Given the description of an element on the screen output the (x, y) to click on. 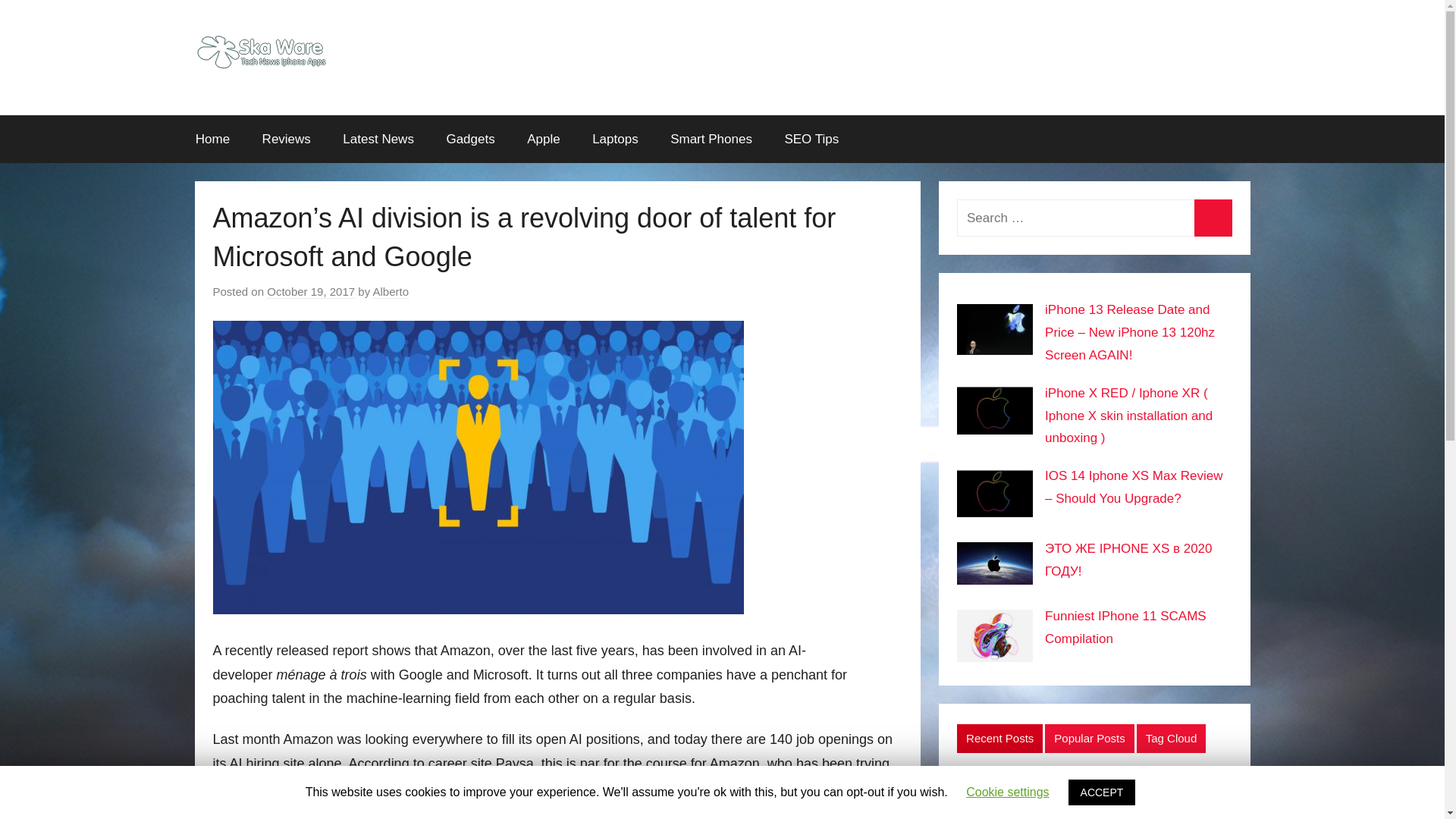
Tag Cloud (1172, 737)
Recent Posts (999, 737)
View all posts by Alberto (390, 291)
Funniest IPhone 11 SCAMS Compilation (1126, 627)
SEO Tips (811, 139)
Latest News (377, 139)
Smart Phones (710, 139)
Alberto (390, 291)
Home (212, 139)
Gadgets (470, 139)
Super Fresh Green Pea Salad with Champagne Vinaigrette (1109, 795)
Popular Posts (1089, 737)
October 19, 2017 (310, 291)
Reviews (286, 139)
